Given the description of an element on the screen output the (x, y) to click on. 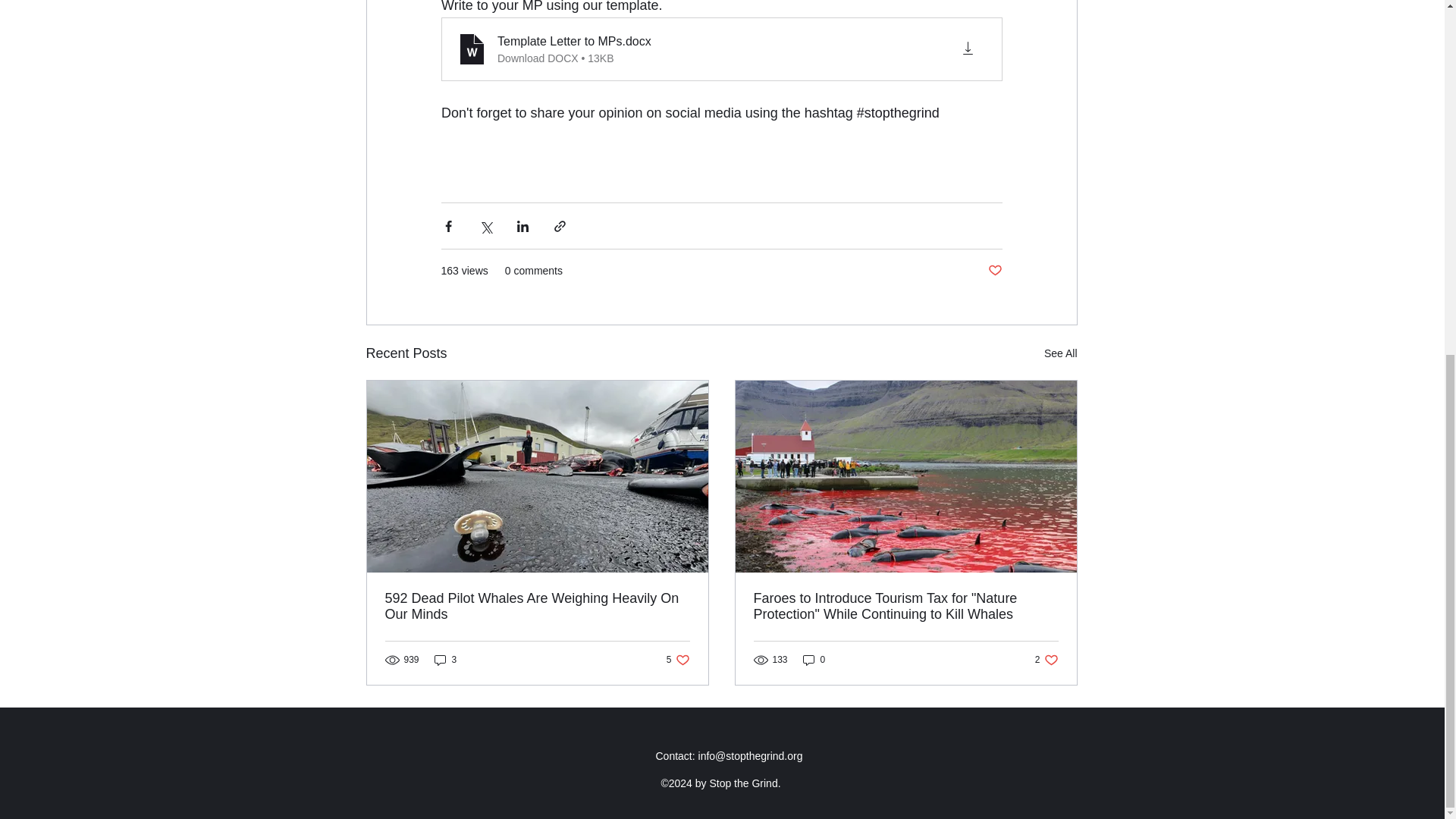
Post not marked as liked (994, 270)
0 (1046, 659)
See All (814, 659)
3 (1060, 353)
592 Dead Pilot Whales Are Weighing Heavily On Our Minds (445, 659)
